Given the description of an element on the screen output the (x, y) to click on. 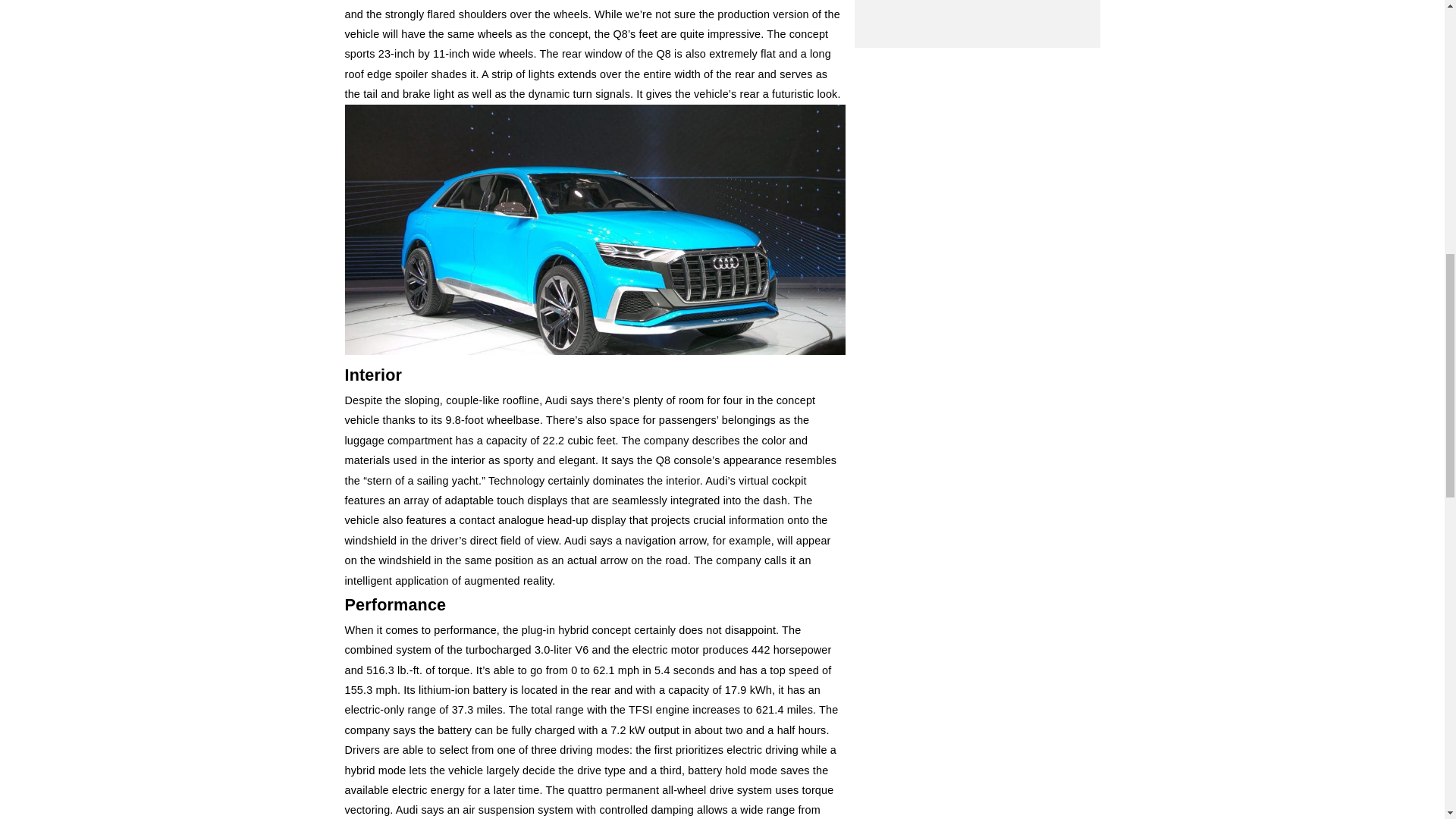
Advertisement (976, 19)
